Given the description of an element on the screen output the (x, y) to click on. 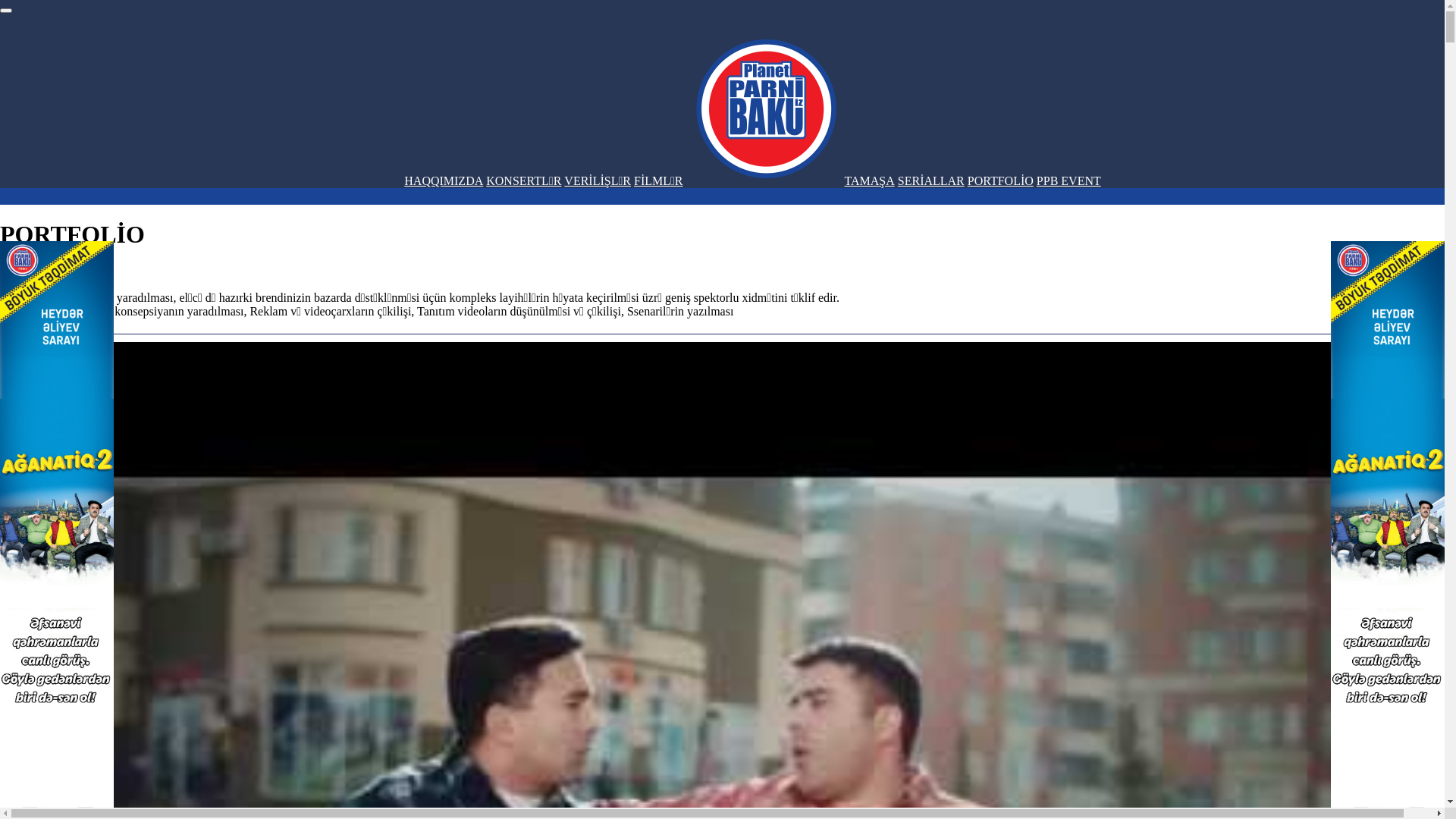
0 Element type: text (74, 80)
PPB EVENT Element type: text (1068, 180)
HAQQIMIZDA Element type: text (443, 180)
